Given the description of an element on the screen output the (x, y) to click on. 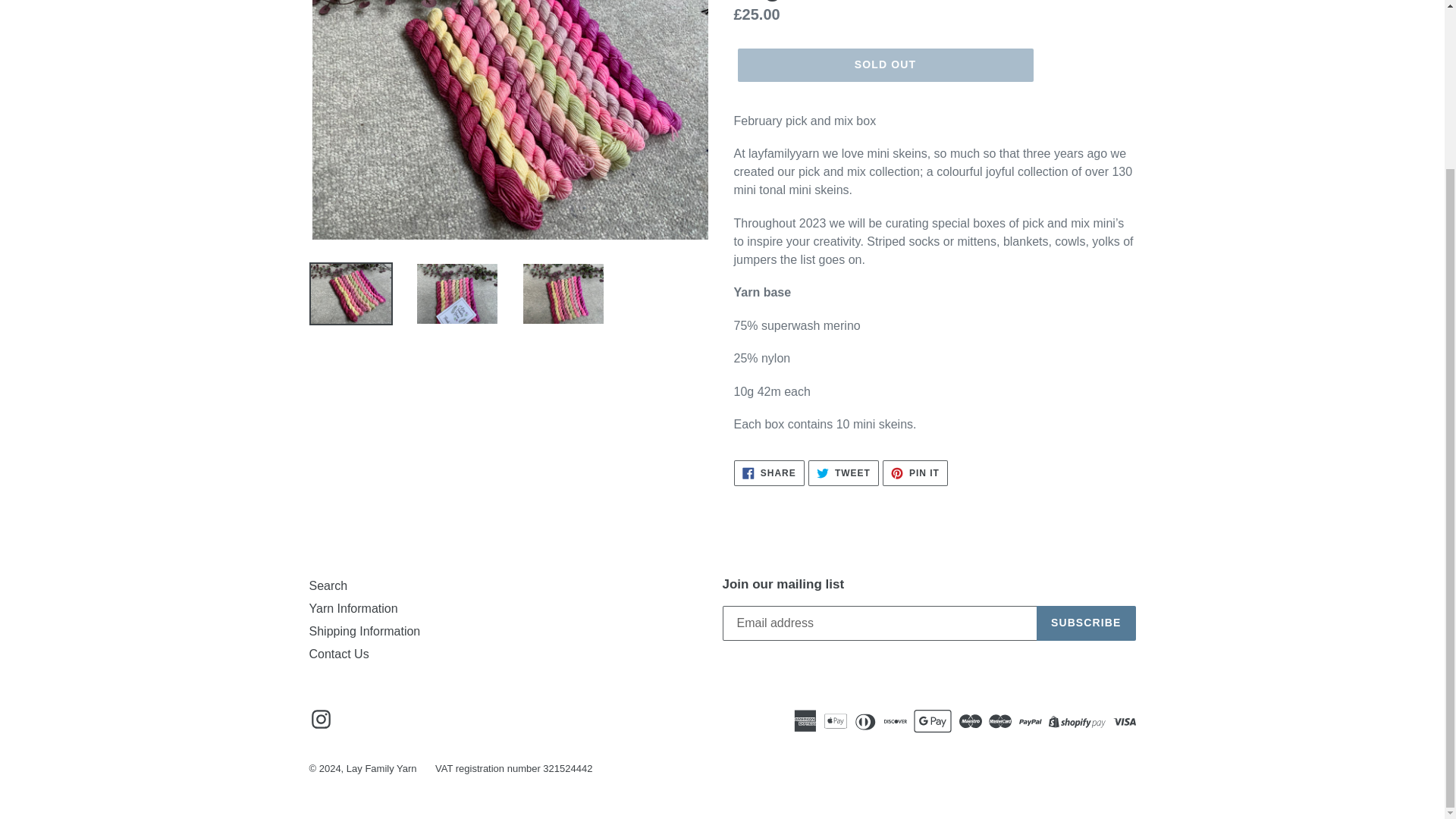
Contact Us (769, 473)
VAT registration number 321524442 (338, 653)
Yarn Information (513, 767)
Shipping Information (352, 608)
Search (364, 631)
SUBSCRIBE (327, 585)
SOLD OUT (1085, 623)
Lay Family Yarn (914, 473)
Instagram (843, 473)
